Given the description of an element on the screen output the (x, y) to click on. 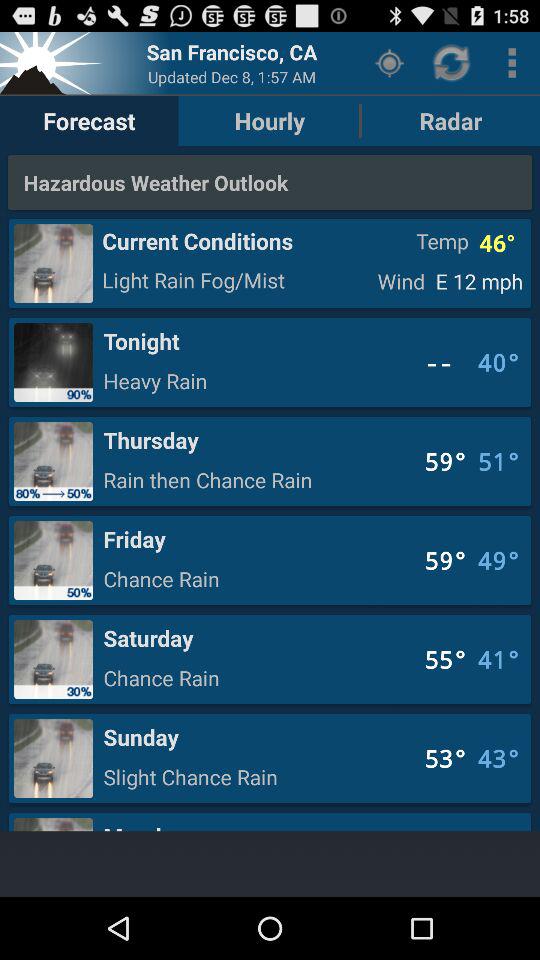
go to weather logo (53, 62)
